Given the description of an element on the screen output the (x, y) to click on. 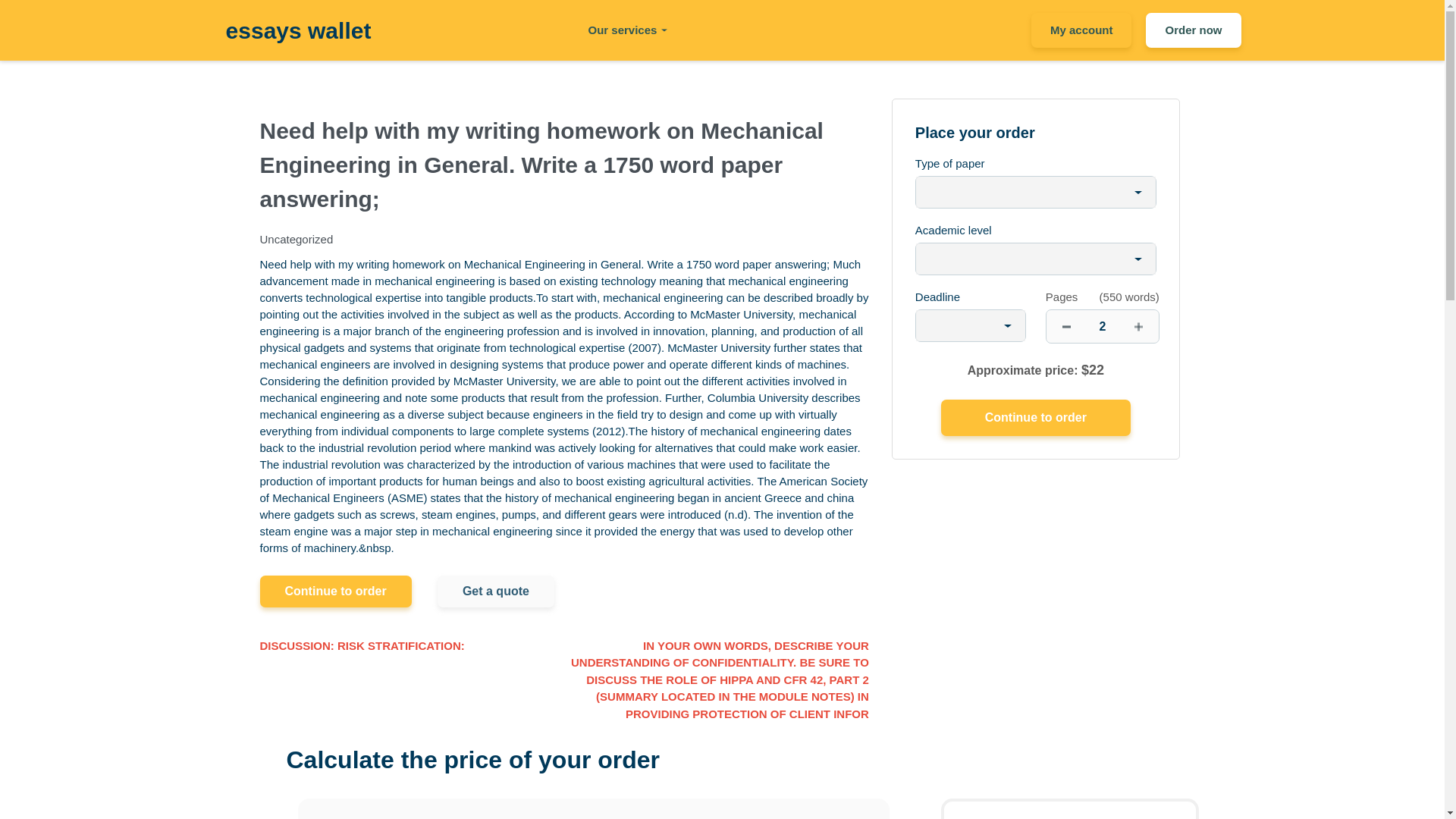
2 (1102, 326)
Order now (1192, 30)
Continue to order (1035, 417)
Get a quote (496, 591)
Continue to order (1035, 417)
Continue to order (334, 591)
My account (1081, 30)
DISCUSSION: RISK STRATIFICATION: (361, 646)
essays wallet (298, 30)
